Given the description of an element on the screen output the (x, y) to click on. 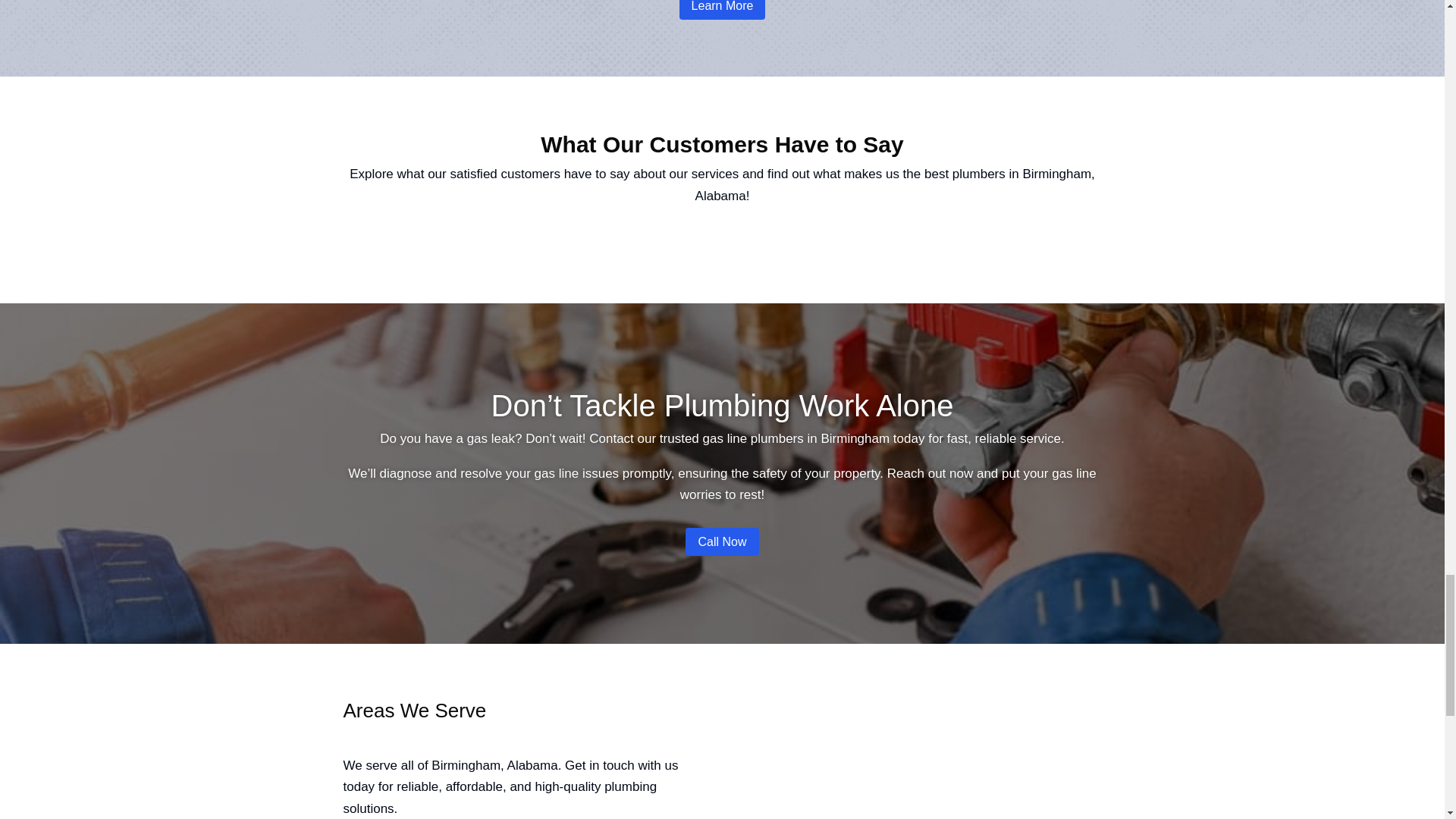
Call Now (721, 541)
Learn More (722, 9)
